Given the description of an element on the screen output the (x, y) to click on. 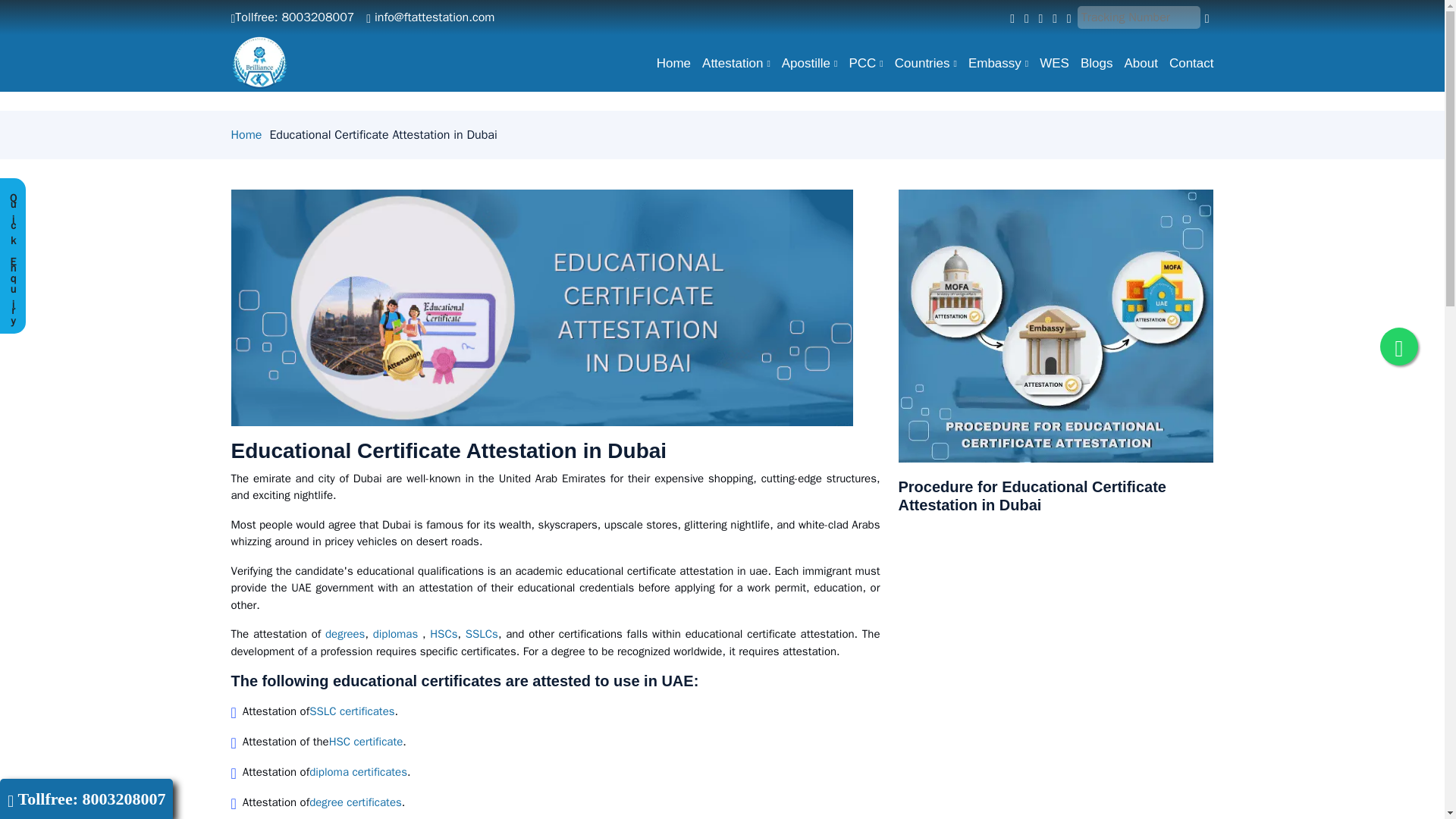
Tollfree: 8003208007 (291, 17)
Home (667, 63)
Apostille (804, 63)
Attestation (730, 63)
